Given the description of an element on the screen output the (x, y) to click on. 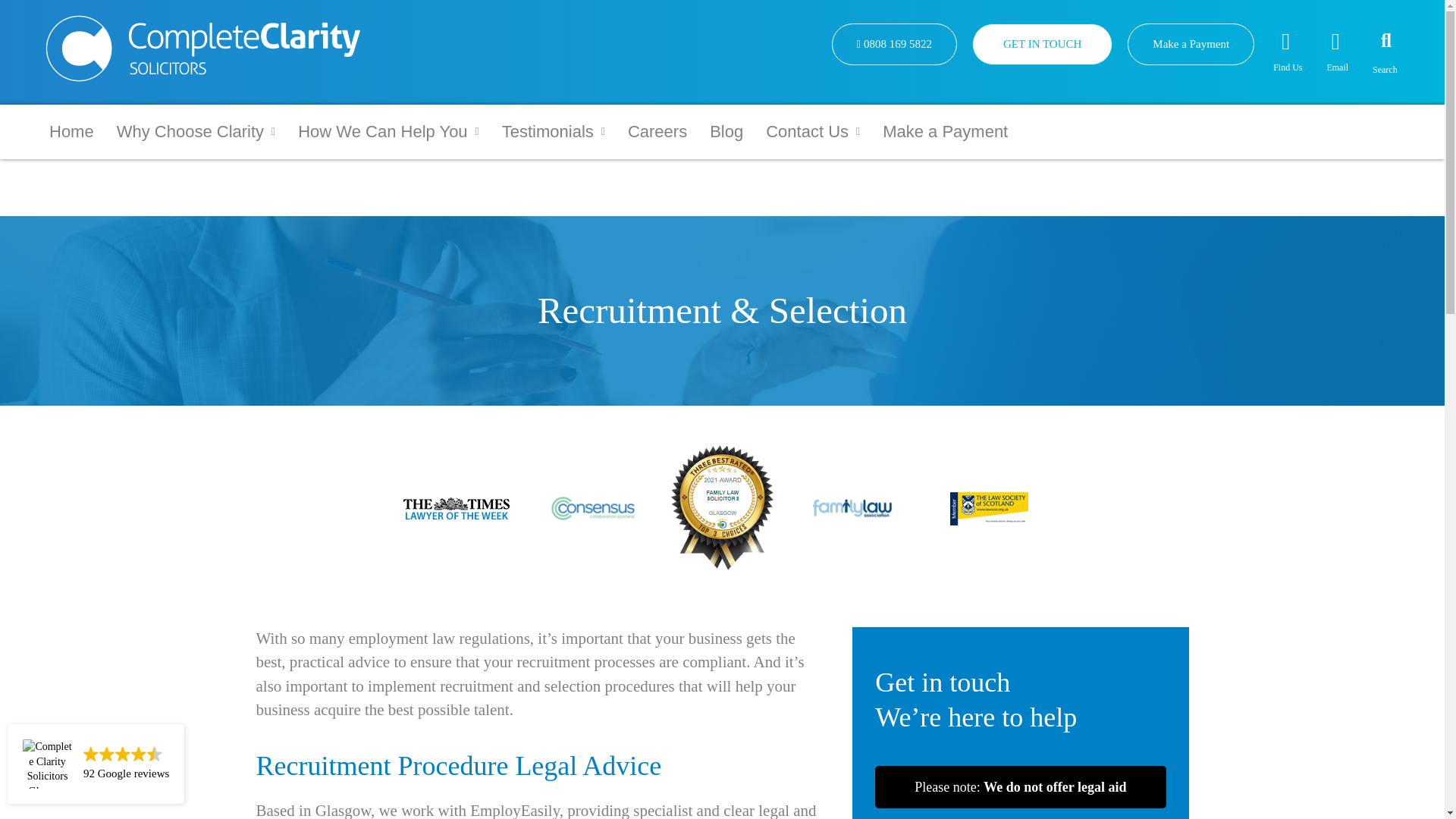
Search (1377, 39)
Why Choose Clarity (195, 131)
Make a Payment (1189, 43)
GET IN TOUCH (1042, 43)
How We Can Help You (388, 131)
0808 169 5822 (893, 43)
Home (70, 131)
